Given the description of an element on the screen output the (x, y) to click on. 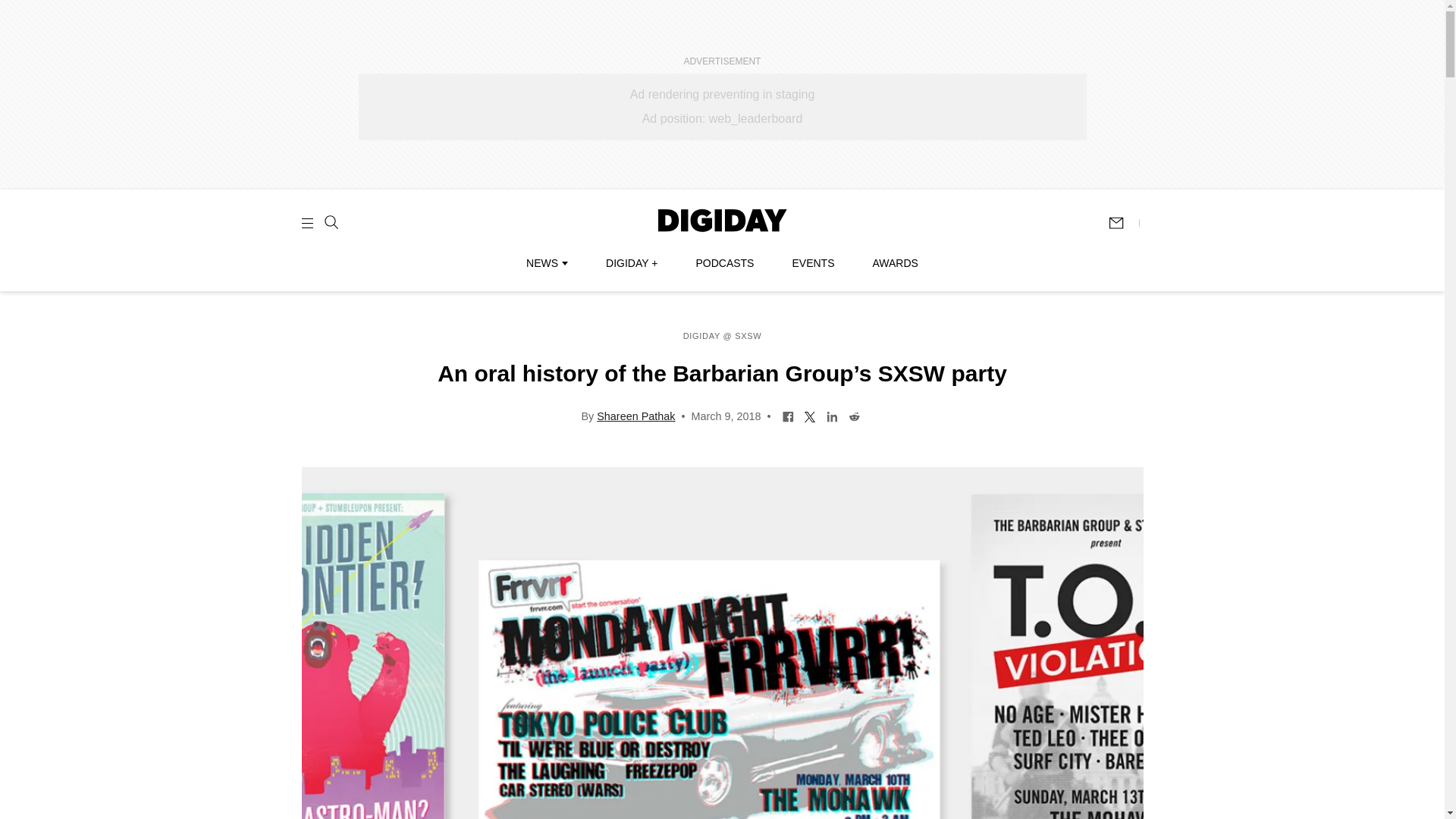
AWARDS (894, 262)
PODCASTS (725, 262)
Share on Twitter (809, 415)
NEWS (546, 262)
Share on LinkedIn (831, 415)
Share on Facebook (787, 415)
EVENTS (813, 262)
Share on Reddit (853, 415)
Subscribe (1123, 223)
